Given the description of an element on the screen output the (x, y) to click on. 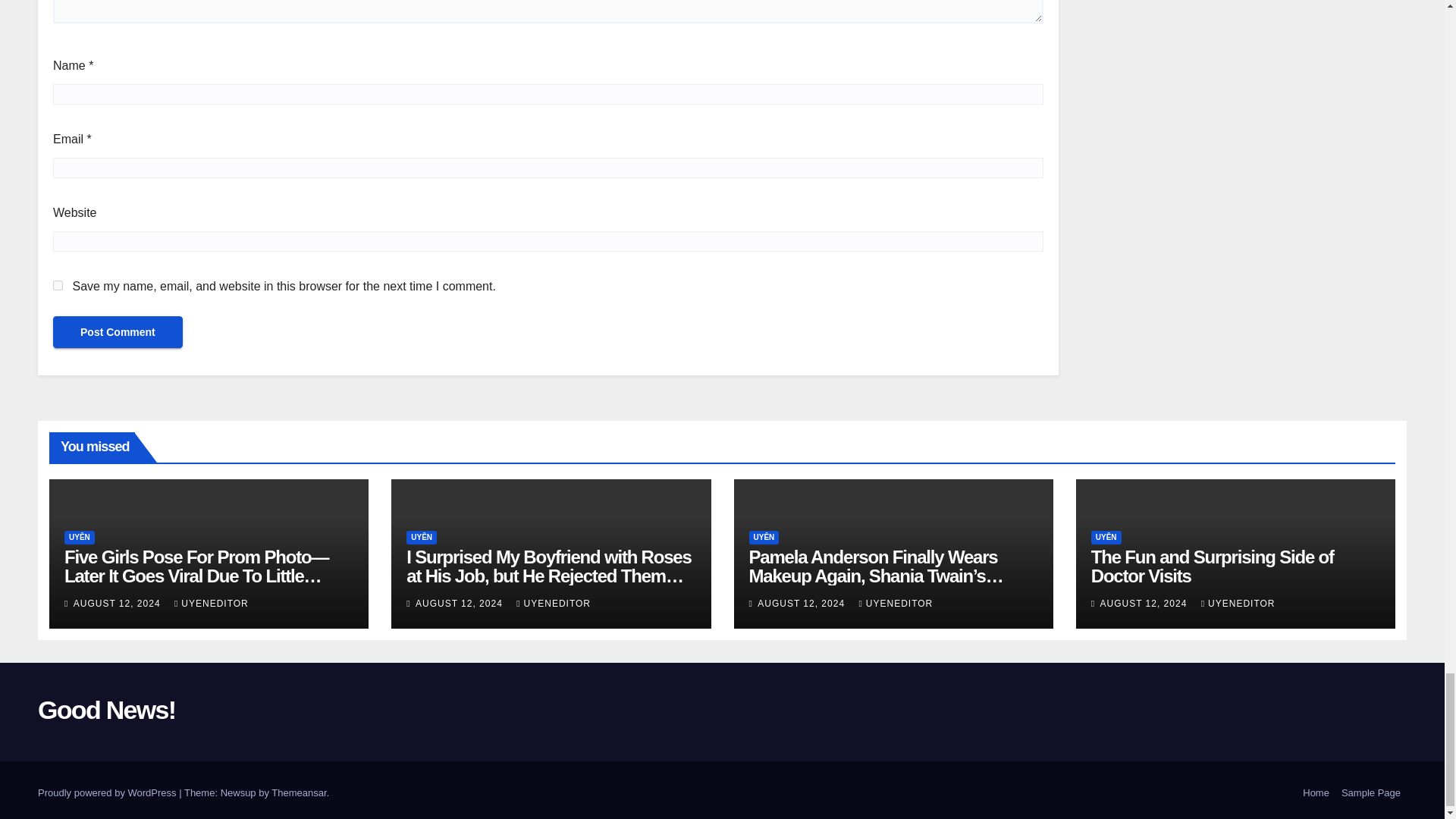
Post Comment (117, 332)
yes (57, 285)
Post Comment (117, 332)
